Given the description of an element on the screen output the (x, y) to click on. 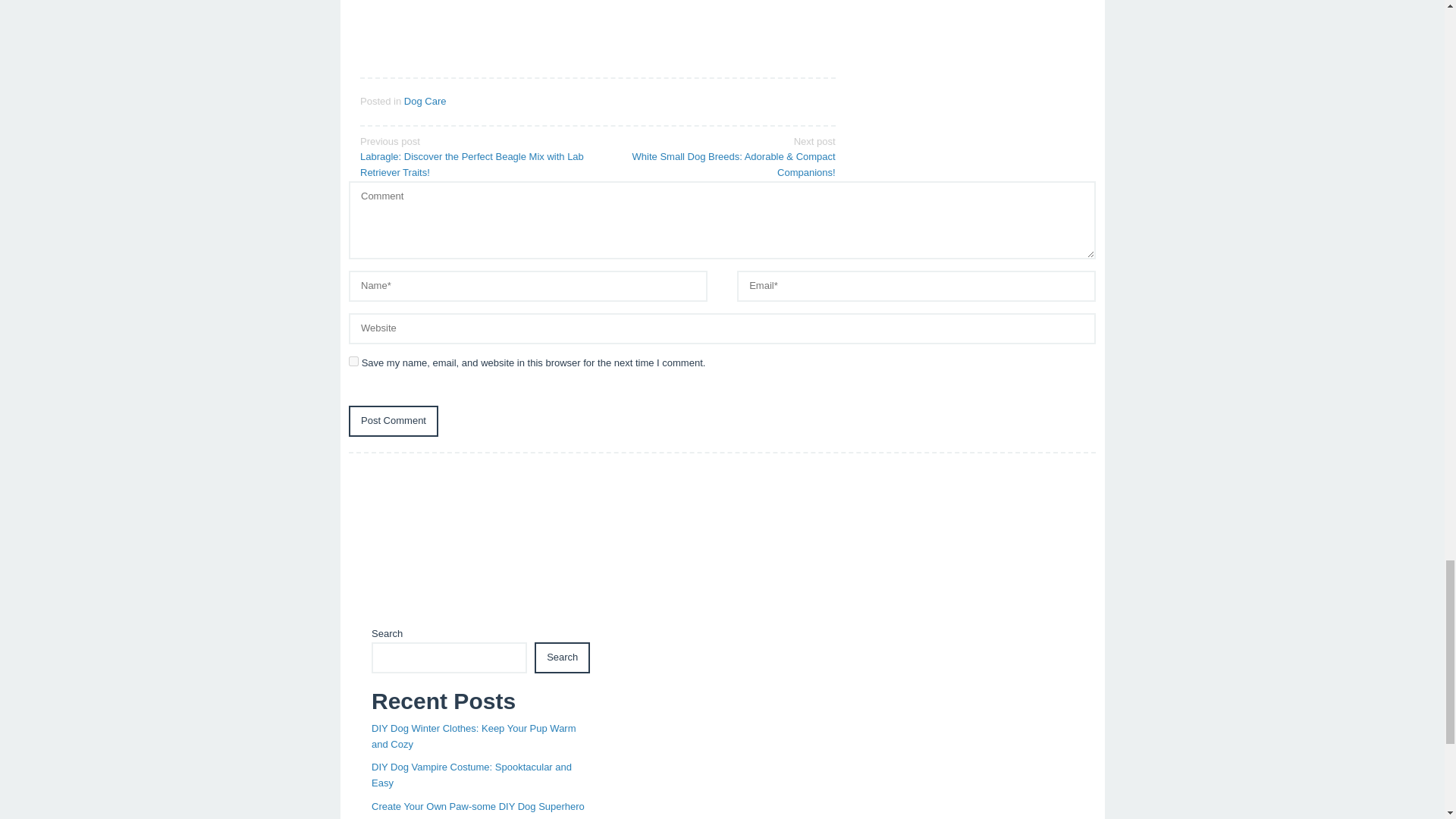
Search (561, 657)
Post Comment (393, 420)
Advertisement (722, 543)
DIY Dog Winter Clothes: Keep Your Pup Warm and Cozy (473, 736)
yes (353, 361)
Advertisement (597, 28)
DIY Dog Vampire Costume: Spooktacular and Easy (471, 774)
Dog Care (425, 101)
Post Comment (393, 420)
